Given the description of an element on the screen output the (x, y) to click on. 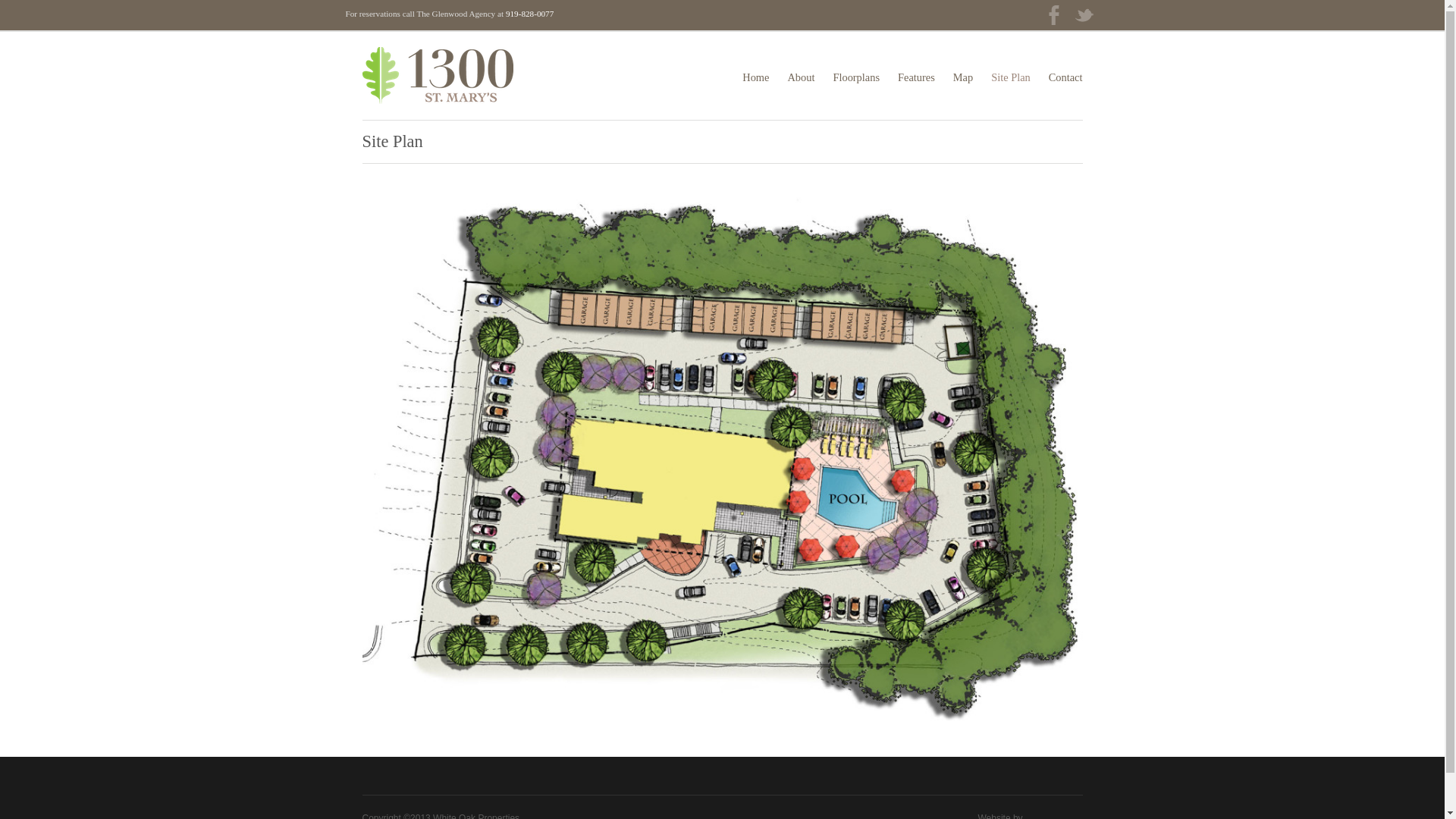
Twitter Element type: text (1084, 18)
Contact Element type: text (1065, 77)
About Element type: text (800, 77)
Map Element type: text (962, 77)
Site Plan Element type: text (1010, 77)
Features Element type: text (916, 77)
Home Element type: text (755, 77)
Floorplans Element type: text (855, 77)
Facebook Element type: text (1053, 18)
